Given the description of an element on the screen output the (x, y) to click on. 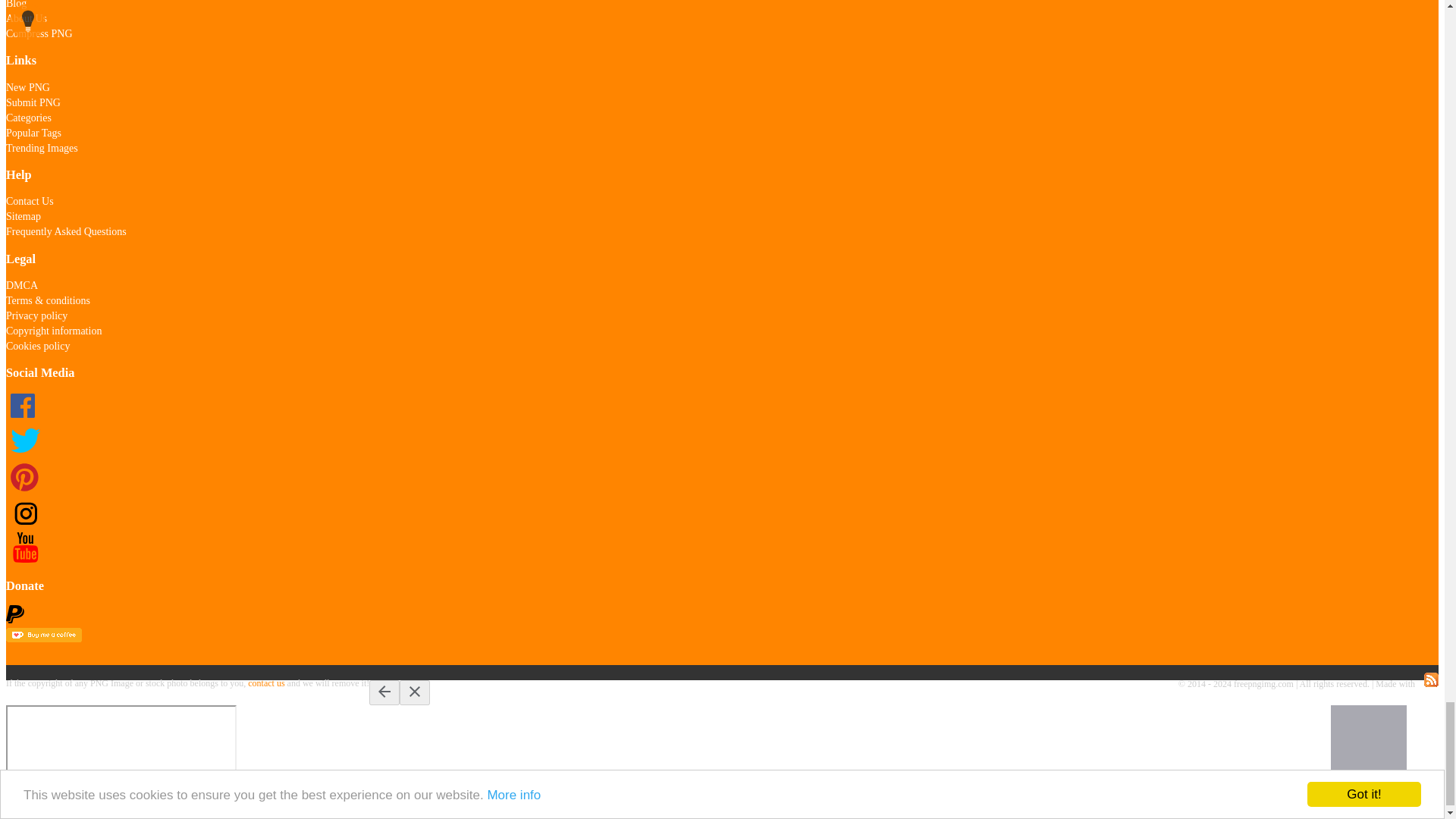
Follow FreePNGImg.com on Facebook (24, 419)
Follow FreePNGImg.com on Twitter (24, 454)
